Given the description of an element on the screen output the (x, y) to click on. 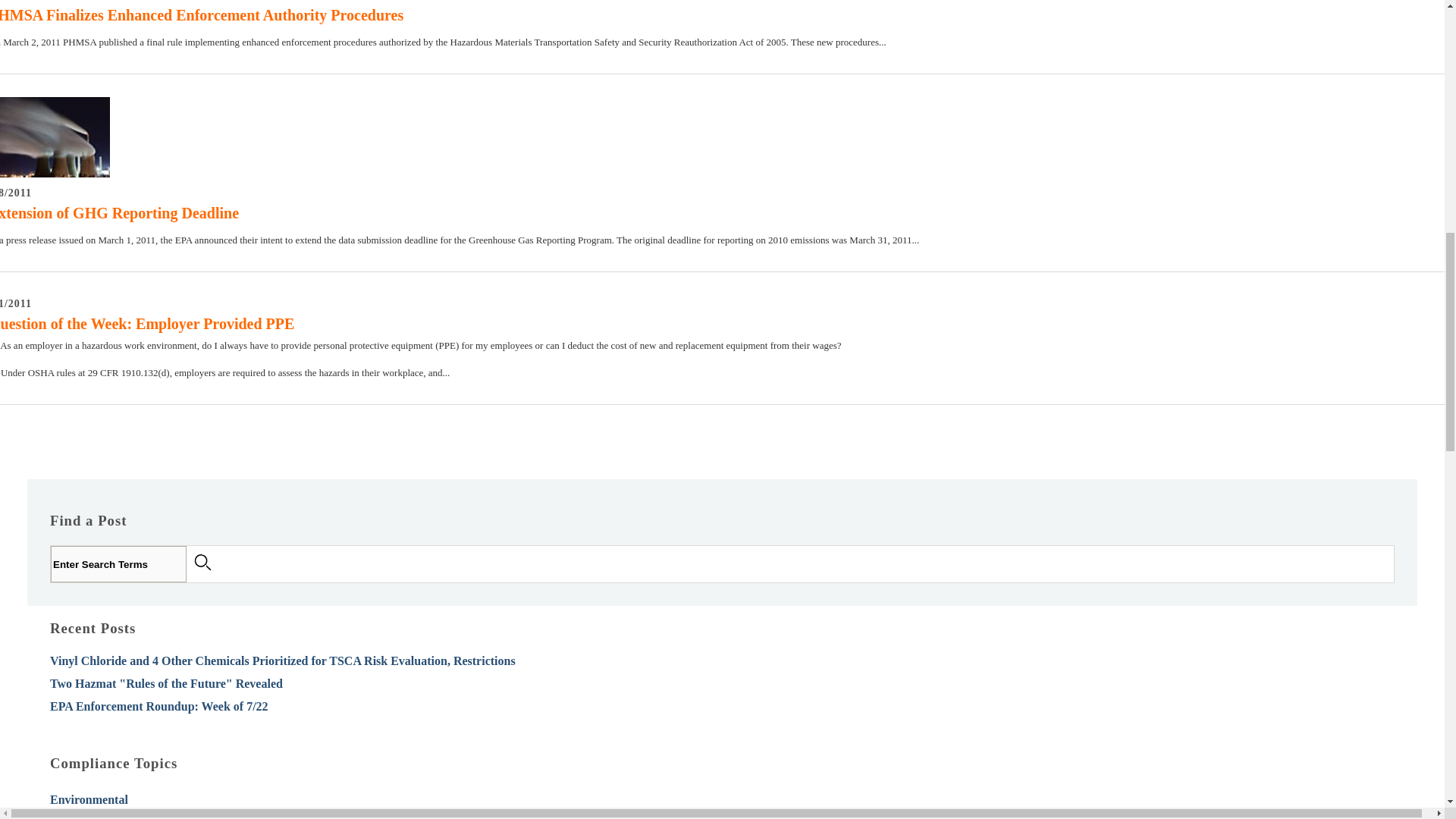
. (205, 562)
